Given the description of an element on the screen output the (x, y) to click on. 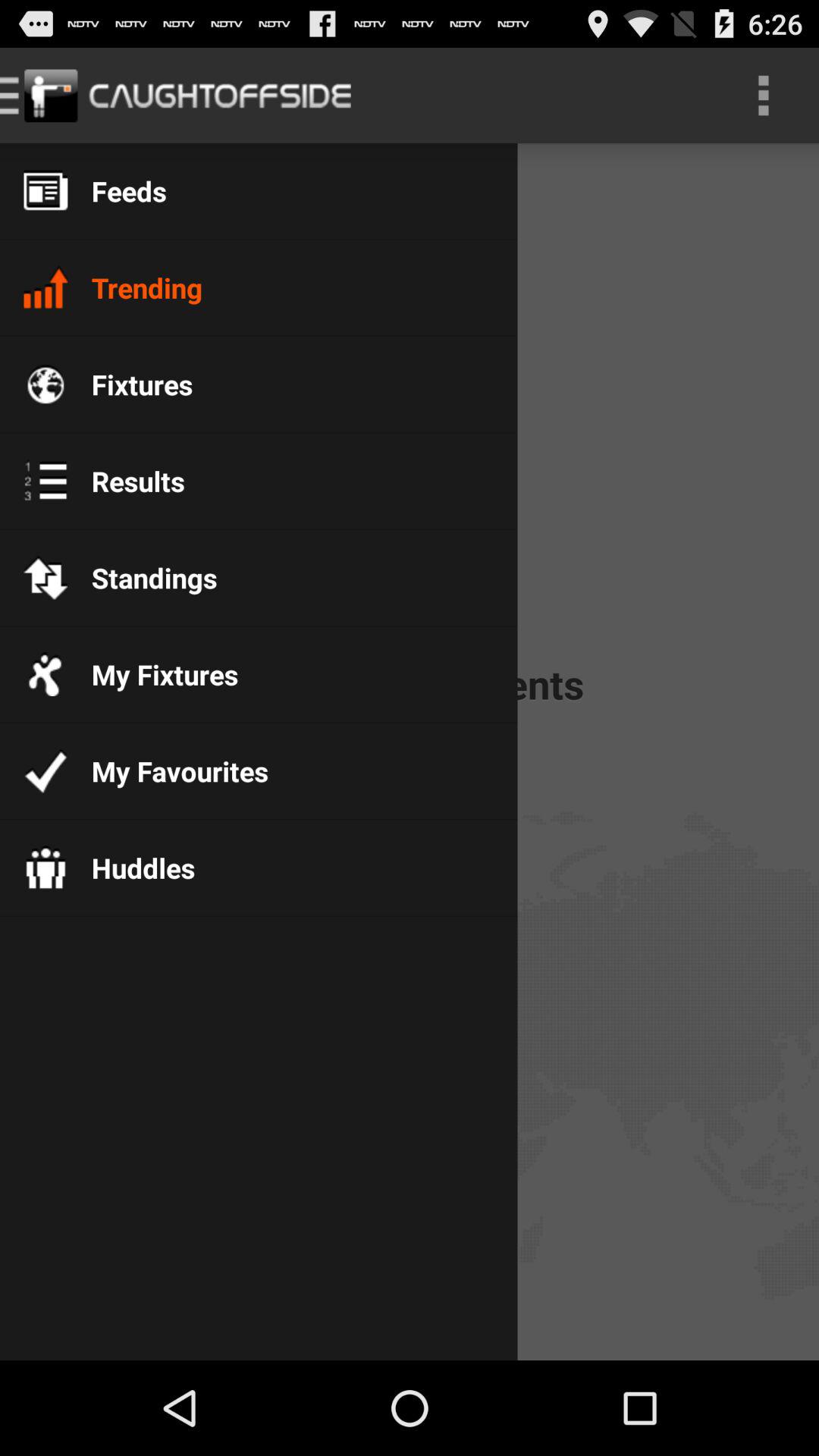
select item at the top right corner (763, 95)
